Given the description of an element on the screen output the (x, y) to click on. 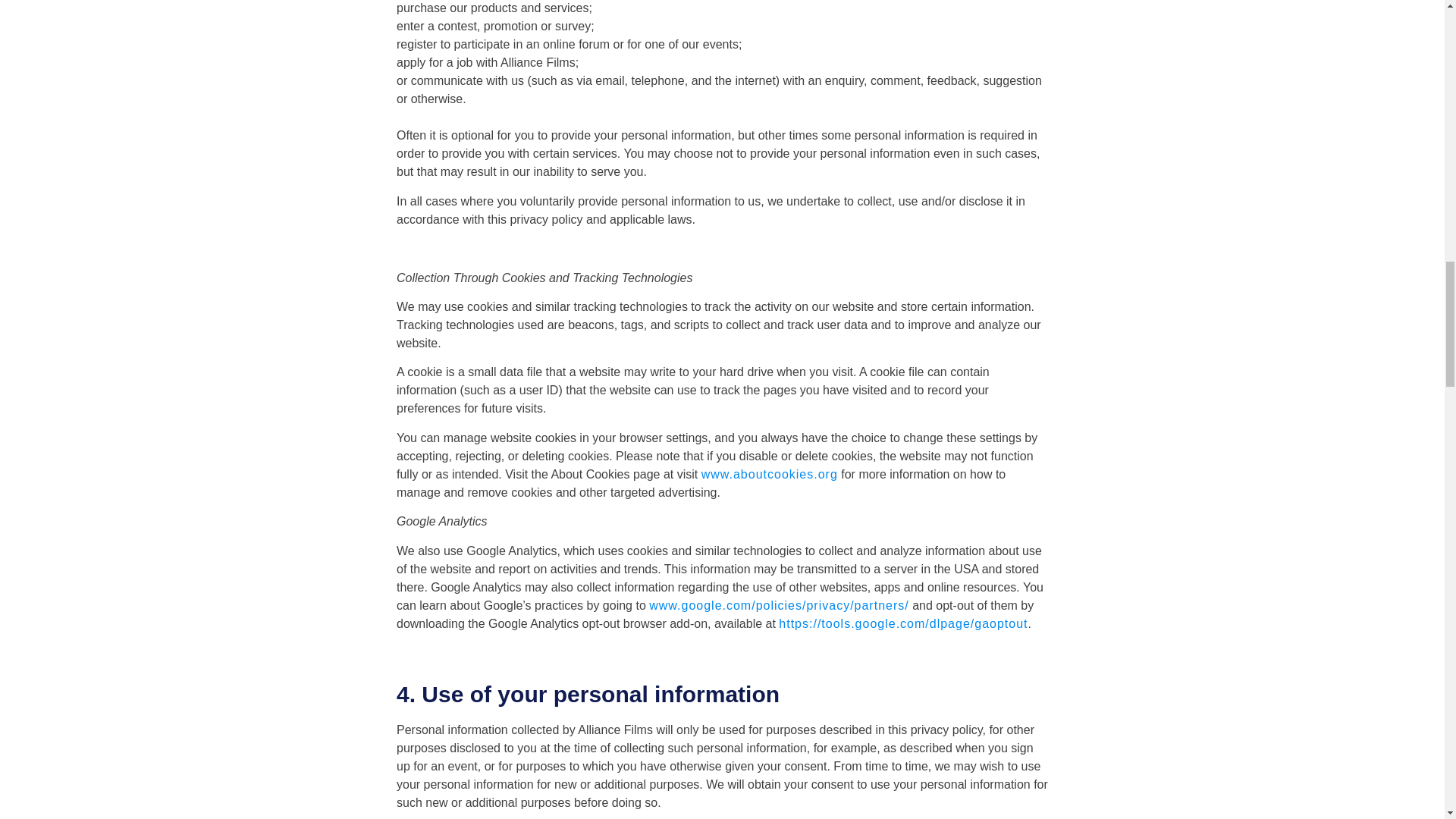
www.aboutcookies.org (769, 473)
